Given the description of an element on the screen output the (x, y) to click on. 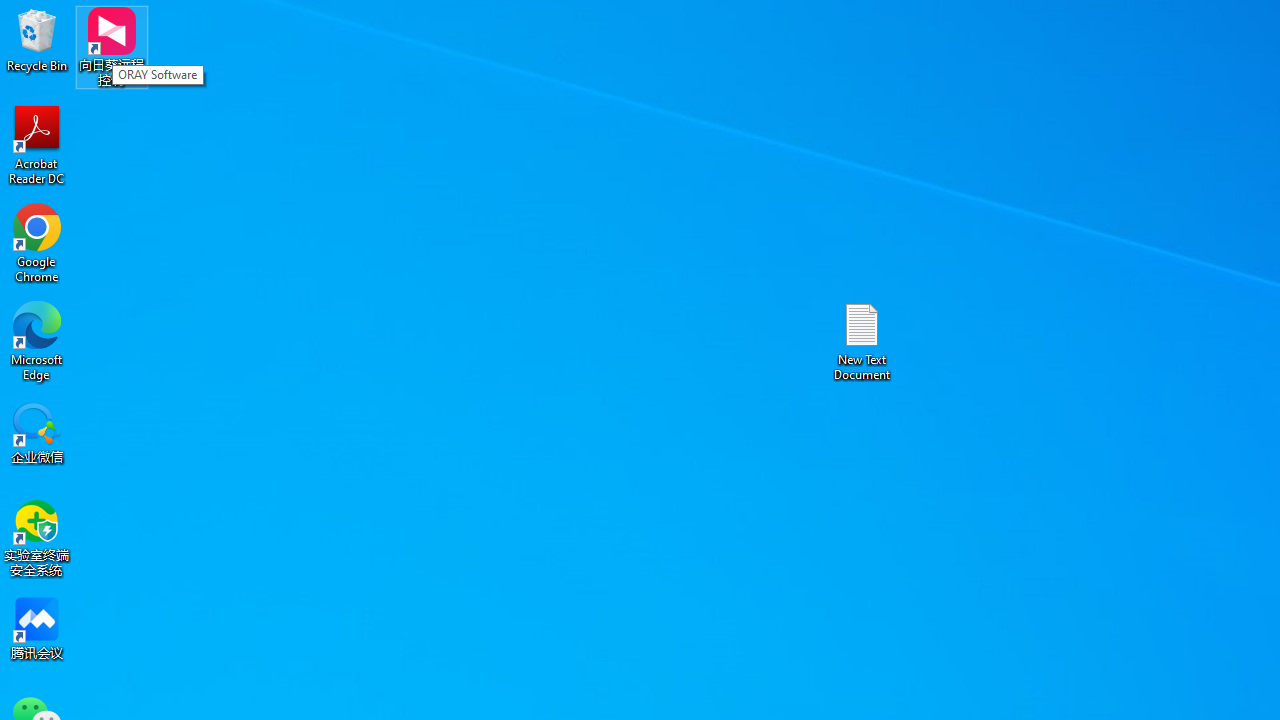
Acrobat Reader DC (37, 144)
Google Chrome (37, 242)
Recycle Bin (37, 39)
Microsoft Edge (37, 340)
New Text Document (861, 340)
